Given the description of an element on the screen output the (x, y) to click on. 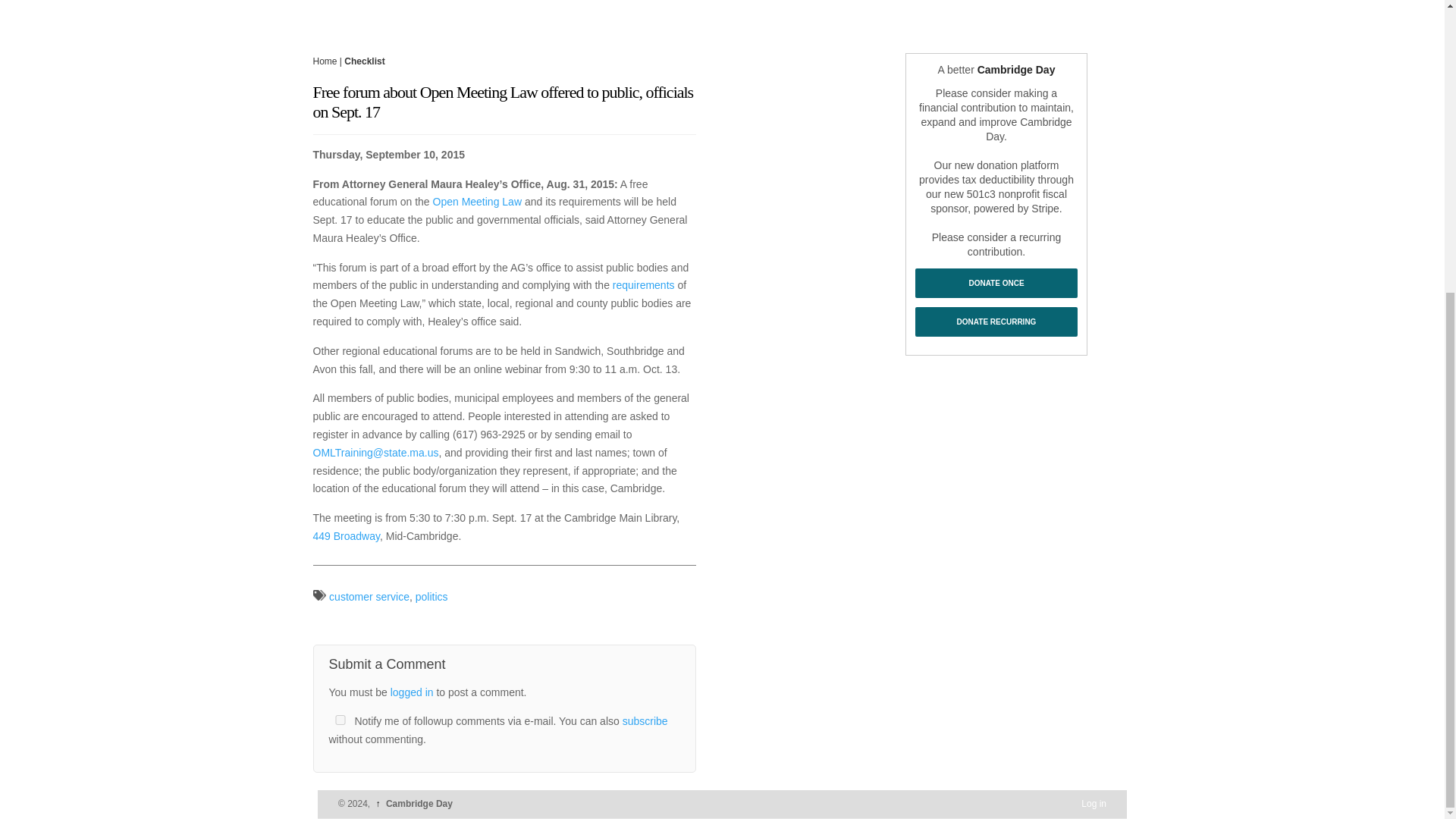
yes (340, 719)
